Given the description of an element on the screen output the (x, y) to click on. 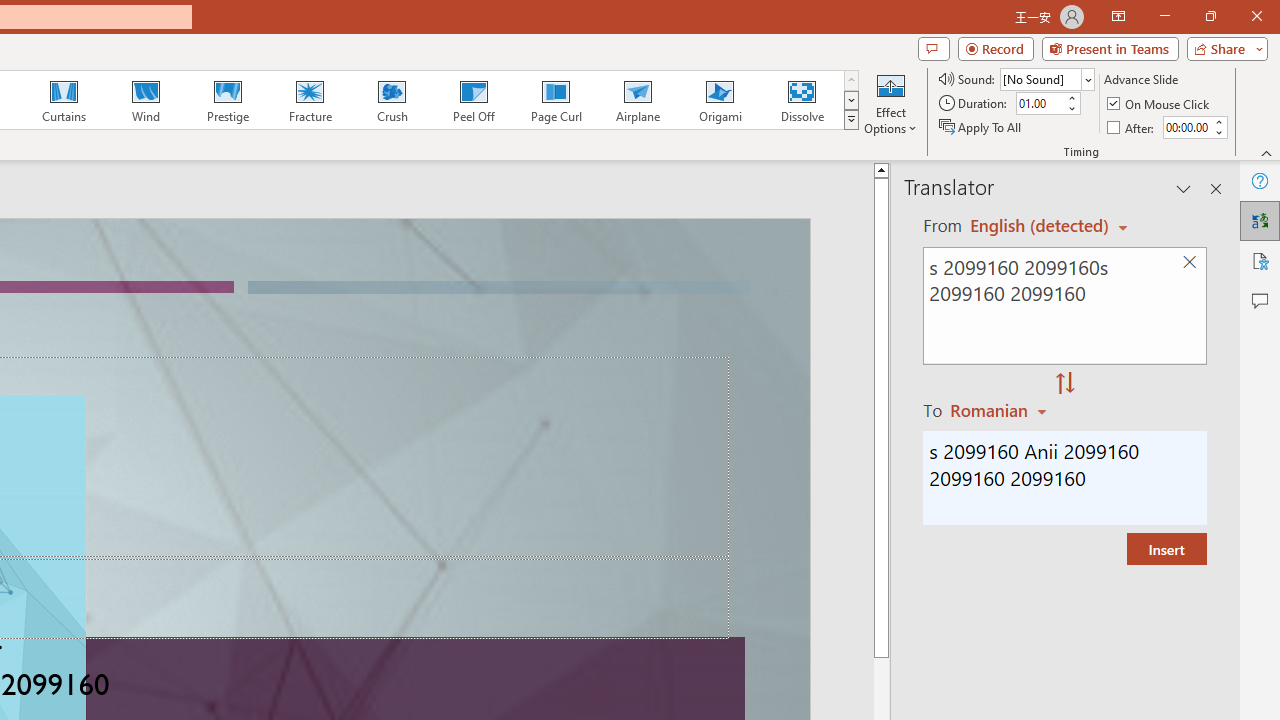
Page Curl (555, 100)
